Given the description of an element on the screen output the (x, y) to click on. 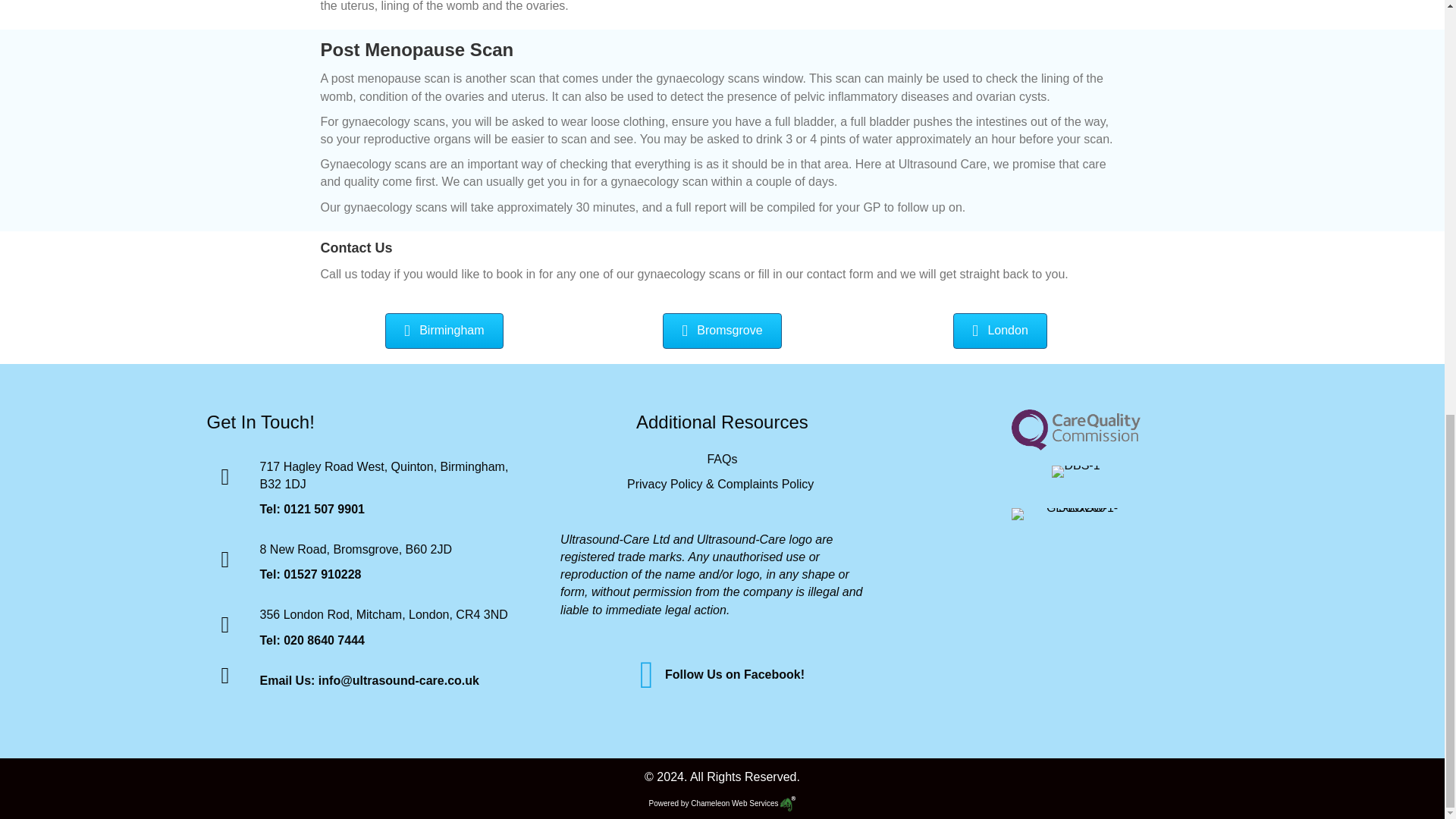
Get In Touch! (260, 421)
Birmingham (443, 330)
Tel: 01527 910228 (310, 574)
Tel: 0121 507 9901 (311, 508)
CQC-LOGO-1 (1075, 429)
DBS-1 (1075, 471)
Bromsgrove (721, 330)
GE-LOGO-1-300x200 (1075, 513)
Web Design Company (742, 803)
Get In Touch! (260, 421)
London (999, 330)
